Given the description of an element on the screen output the (x, y) to click on. 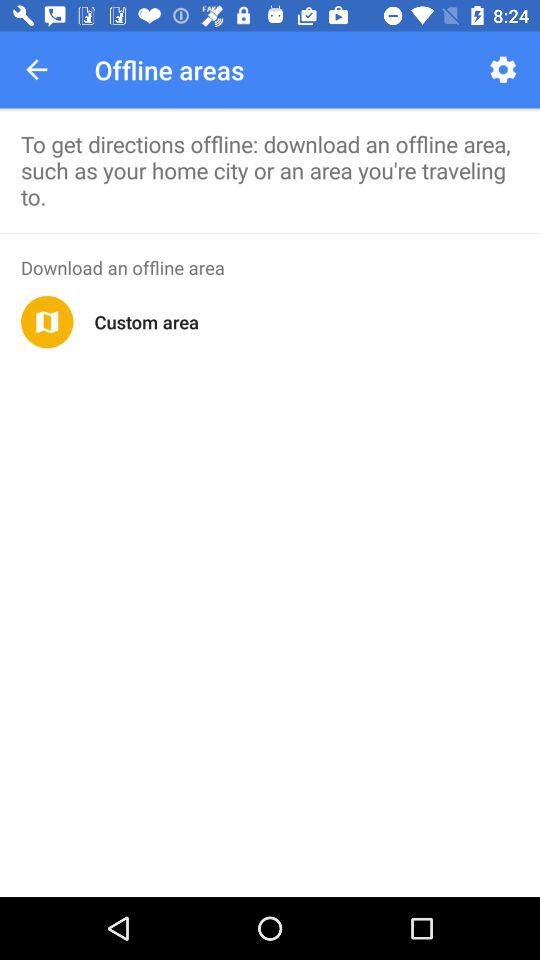
press the app below the download an offline item (47, 321)
